Given the description of an element on the screen output the (x, y) to click on. 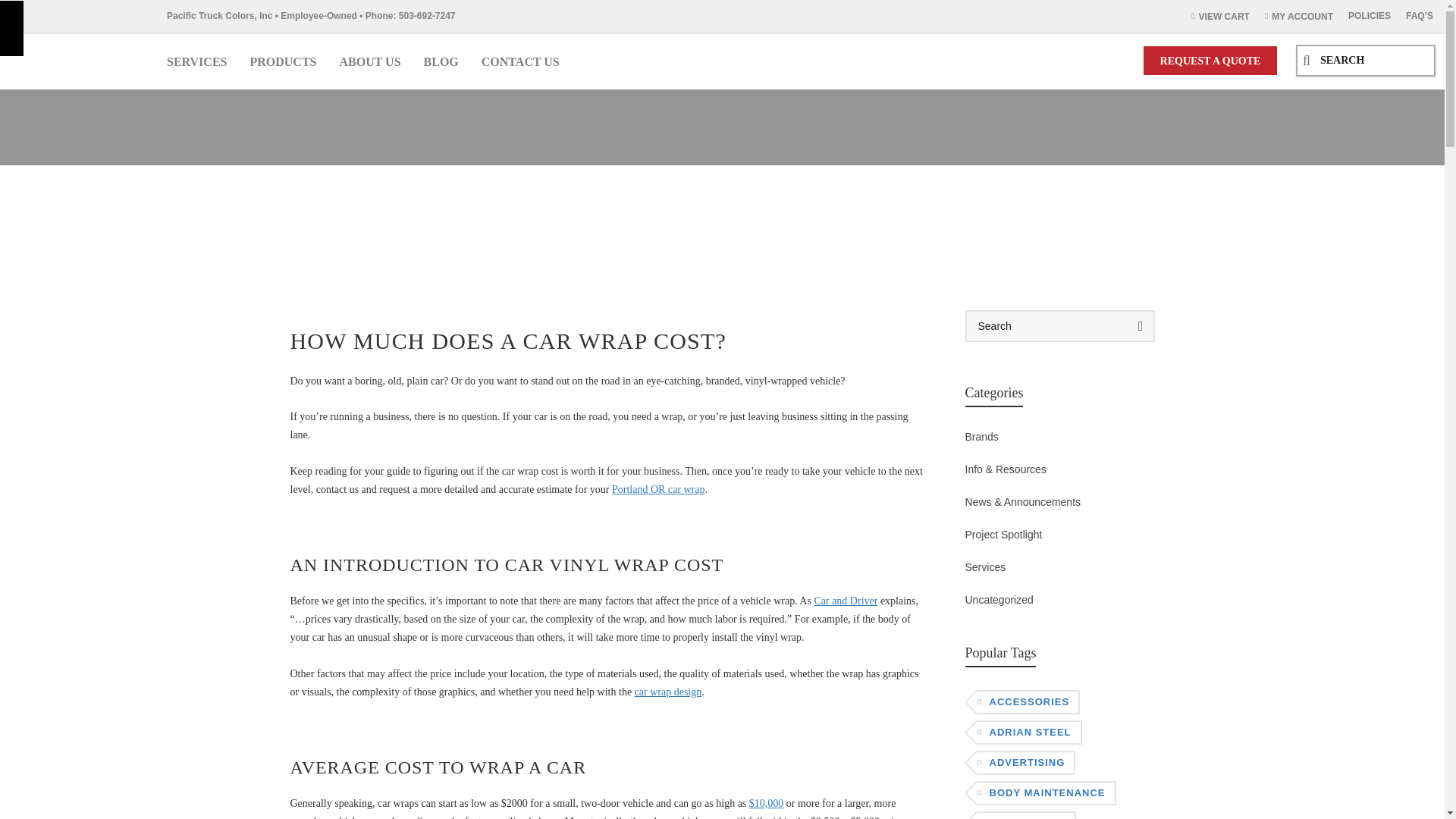
SERVICES (196, 61)
REQUEST A QUOTE (1209, 60)
POLICIES (1368, 15)
VIEW CART (1220, 16)
503-692-7247 (426, 15)
MY ACCOUNT (1298, 16)
PRODUCTS (282, 61)
